Given the description of an element on the screen output the (x, y) to click on. 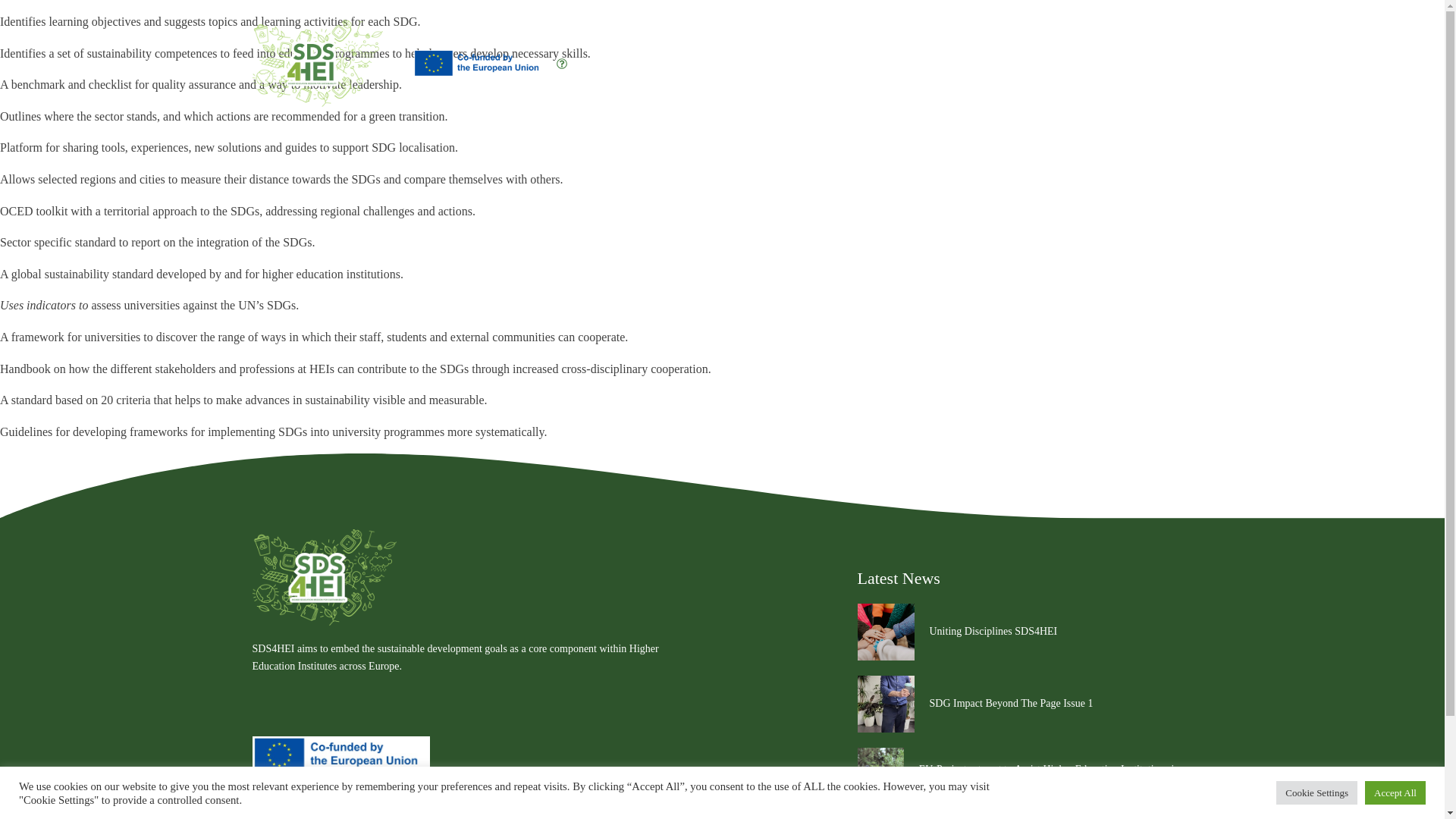
Uniting Disciplines SDS4HEI (994, 631)
Accept All (1395, 792)
Cookie Settings (1316, 792)
SDG Impact Beyond The Page Issue 1 (1011, 703)
RESOURCES (1073, 63)
PARTNERS (984, 63)
